Given the description of an element on the screen output the (x, y) to click on. 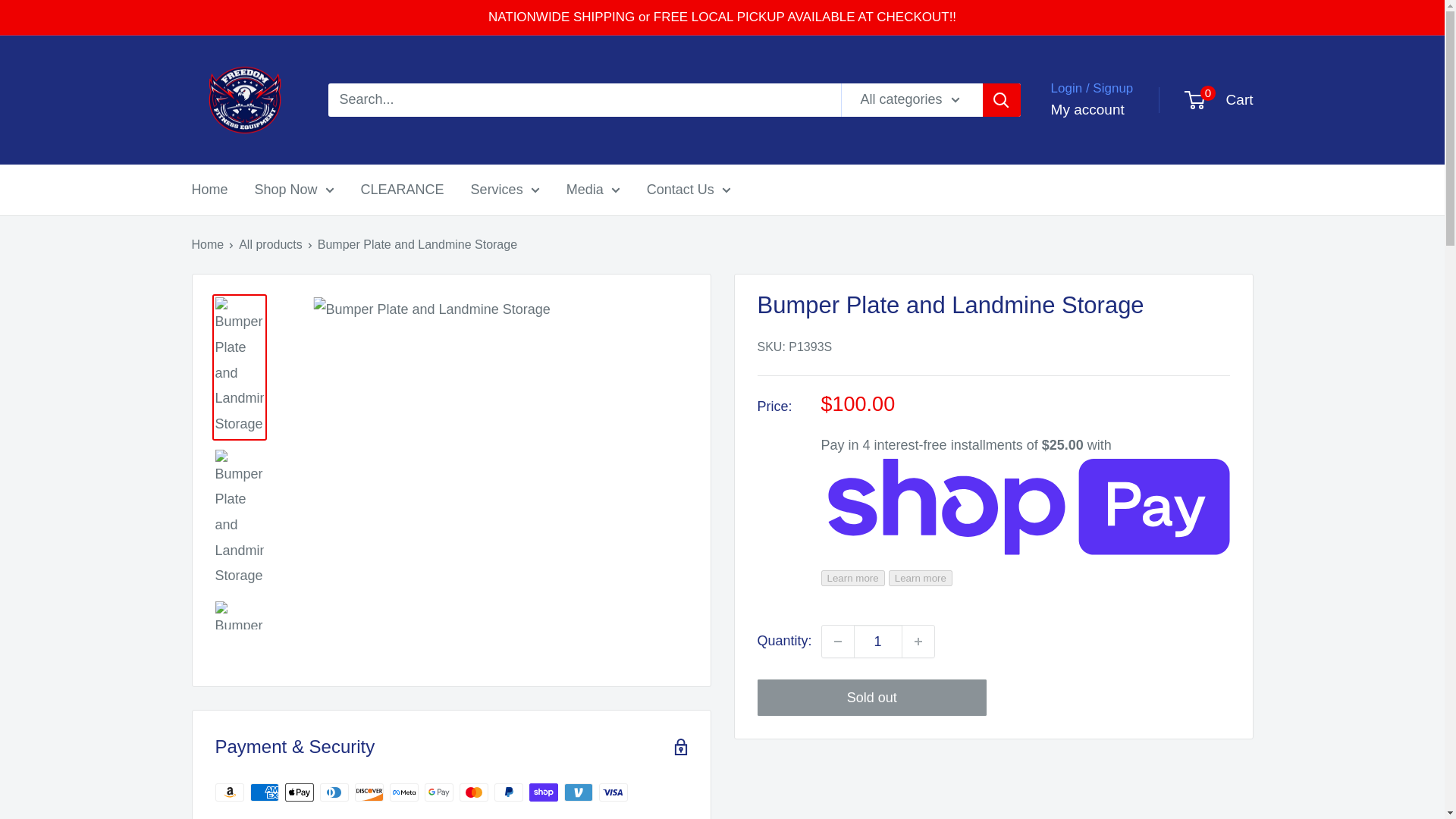
1 (877, 641)
Increase quantity by 1 (918, 641)
Decrease quantity by 1 (837, 641)
